Given the description of an element on the screen output the (x, y) to click on. 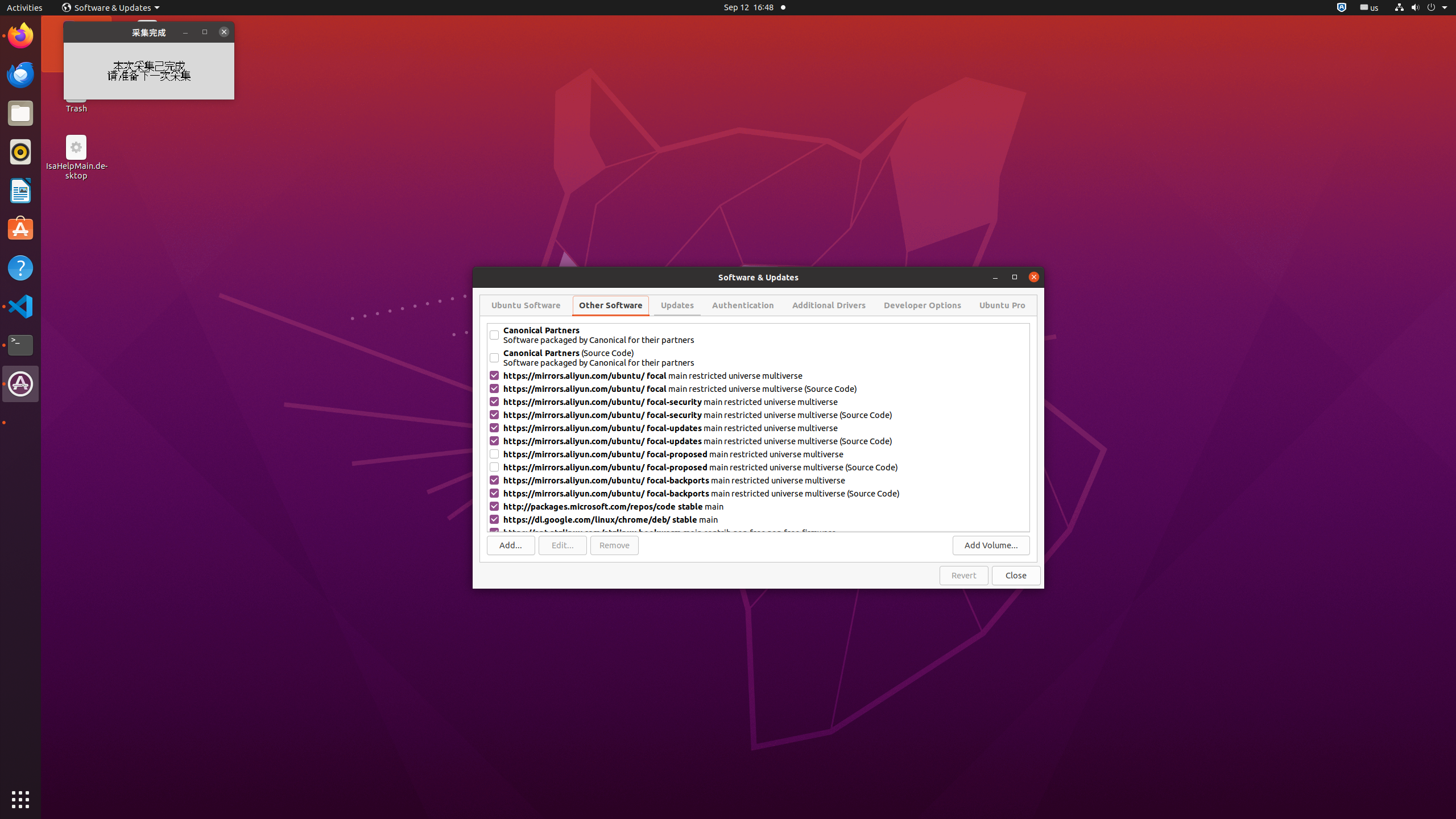
Edit... Element type: push-button (562, 545)
Firefox Web Browser Element type: push-button (20, 35)
https://mirrors.aliyun.com/ubuntu/ focal main restricted universe multiverse (Source Code) Element type: table-cell (765, 388)
Developer Options Element type: page-tab (922, 304)
Trash Element type: label (75, 108)
